Given the description of an element on the screen output the (x, y) to click on. 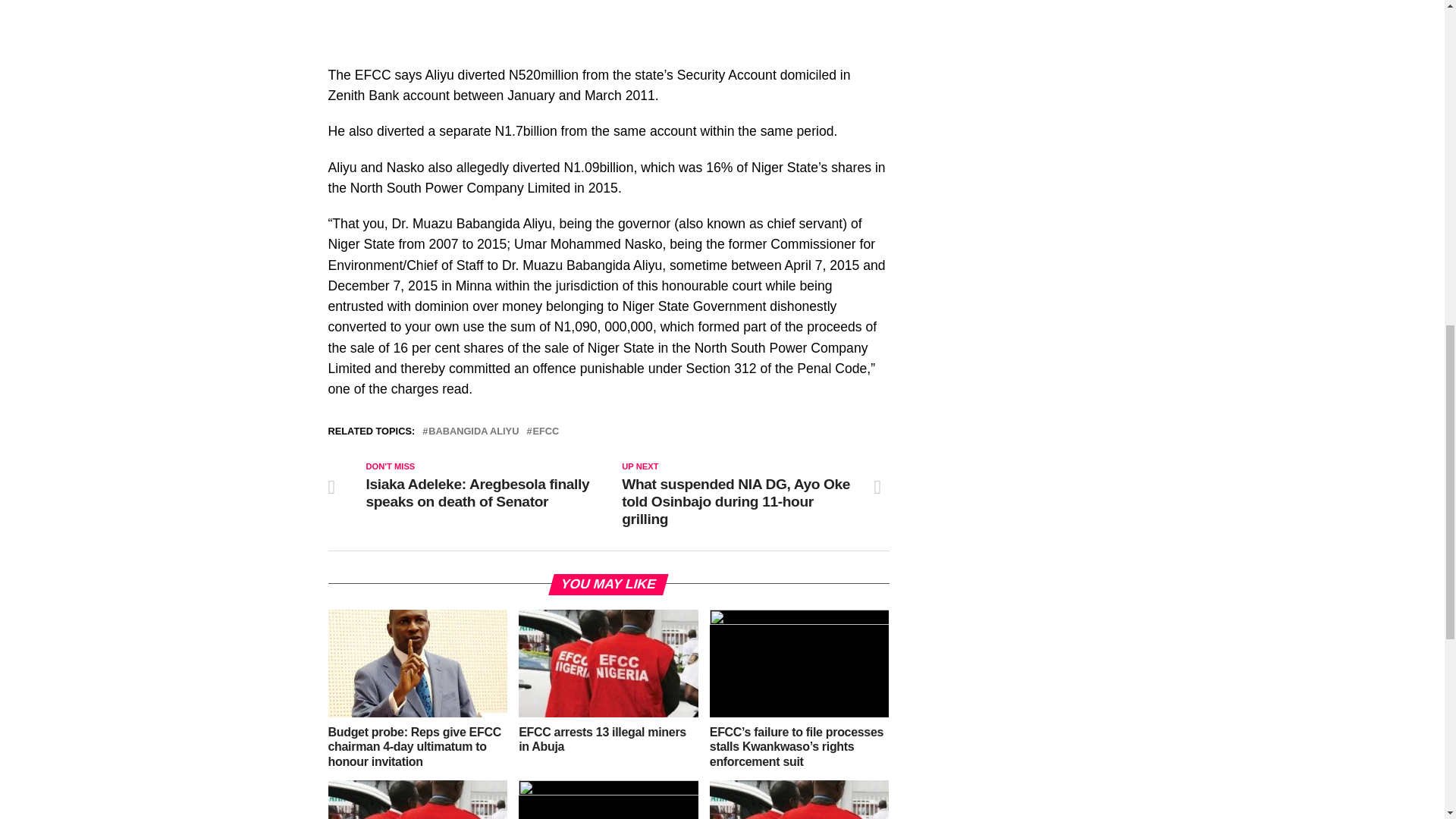
EFCC (545, 430)
BABANGIDA ALIYU (473, 430)
